Given the description of an element on the screen output the (x, y) to click on. 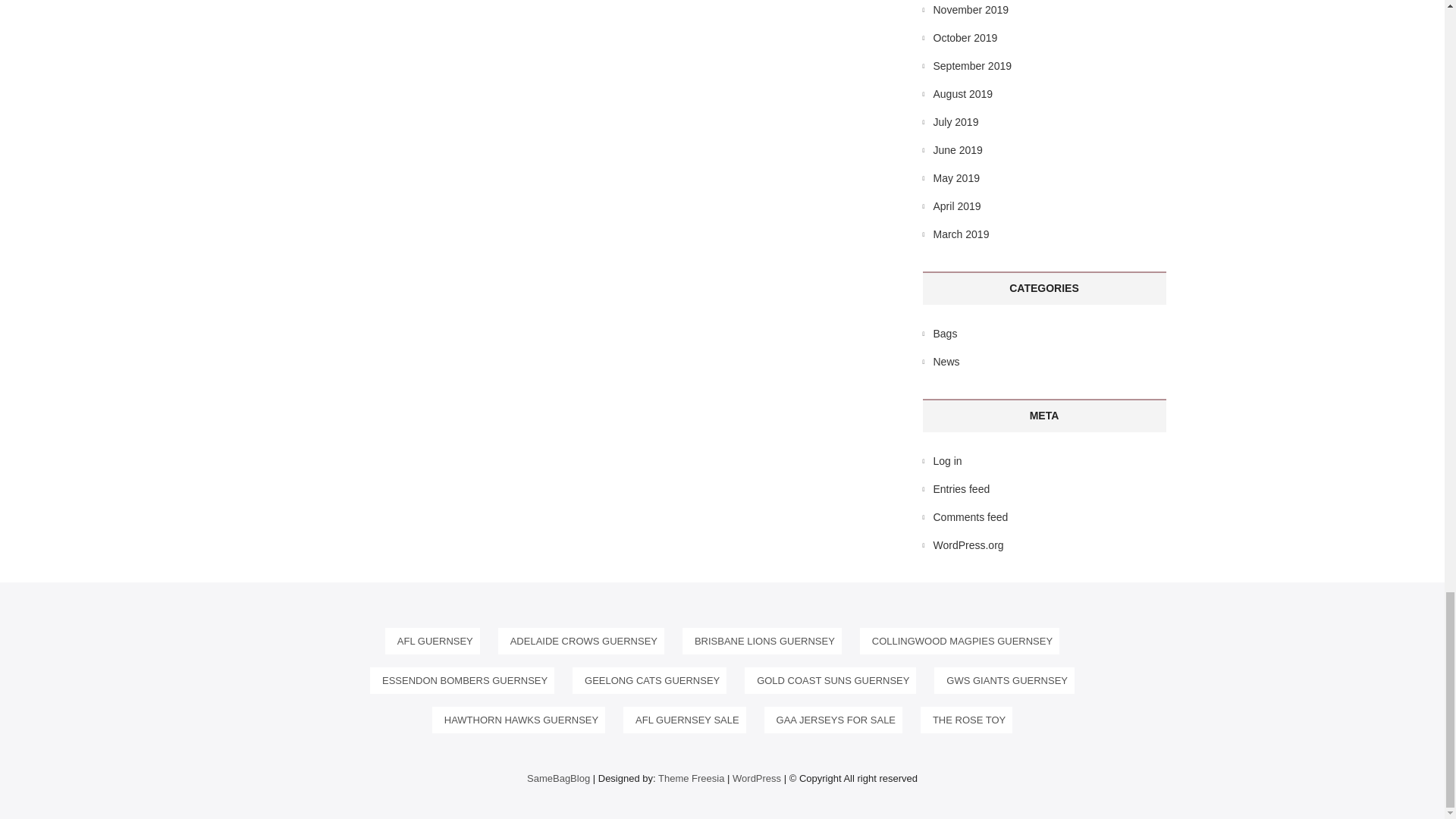
SameBagBlog (558, 778)
Theme Freesia (690, 778)
WordPress (756, 778)
